Given the description of an element on the screen output the (x, y) to click on. 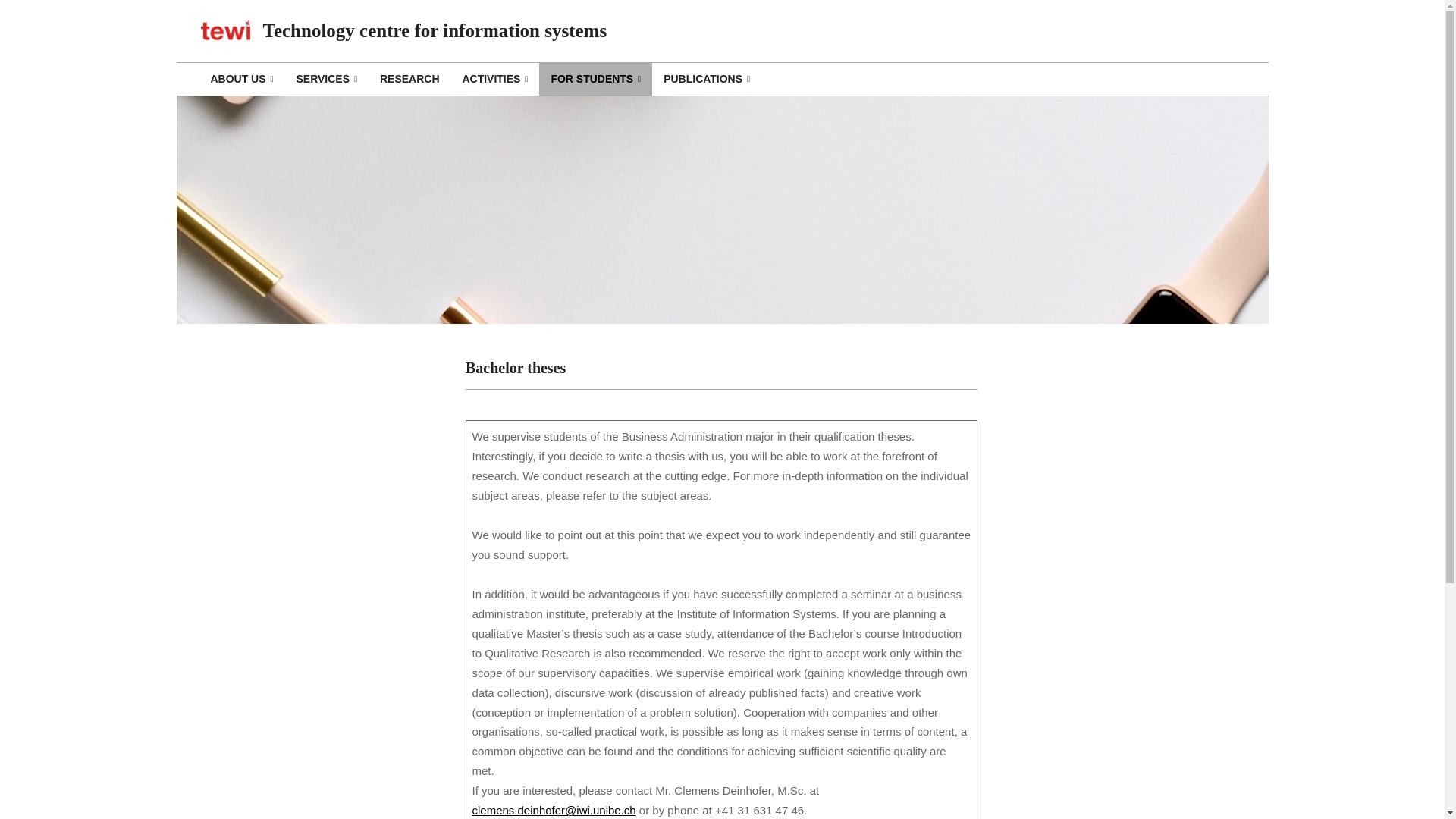
ABOUT US (240, 79)
ACTIVITIES (493, 79)
SERVICES (326, 79)
FOR STUDENTS (595, 79)
Technology centre for information systems (434, 30)
RESEARCH (408, 79)
